Given the description of an element on the screen output the (x, y) to click on. 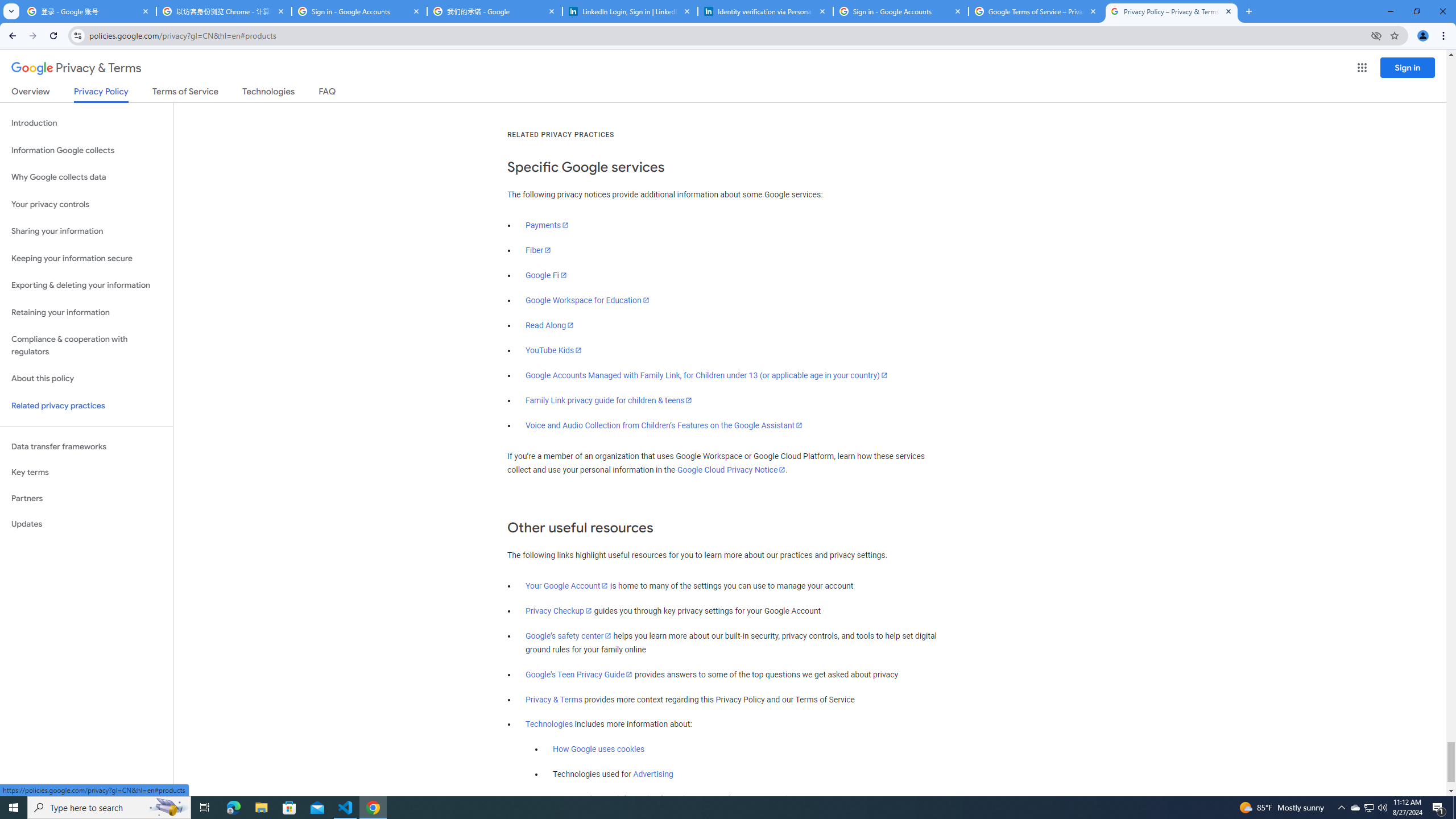
Your Google Account (566, 585)
Sign in - Google Accounts (359, 11)
Read Along (550, 325)
Google Fi (545, 275)
Privacy Checkup (558, 610)
